Given the description of an element on the screen output the (x, y) to click on. 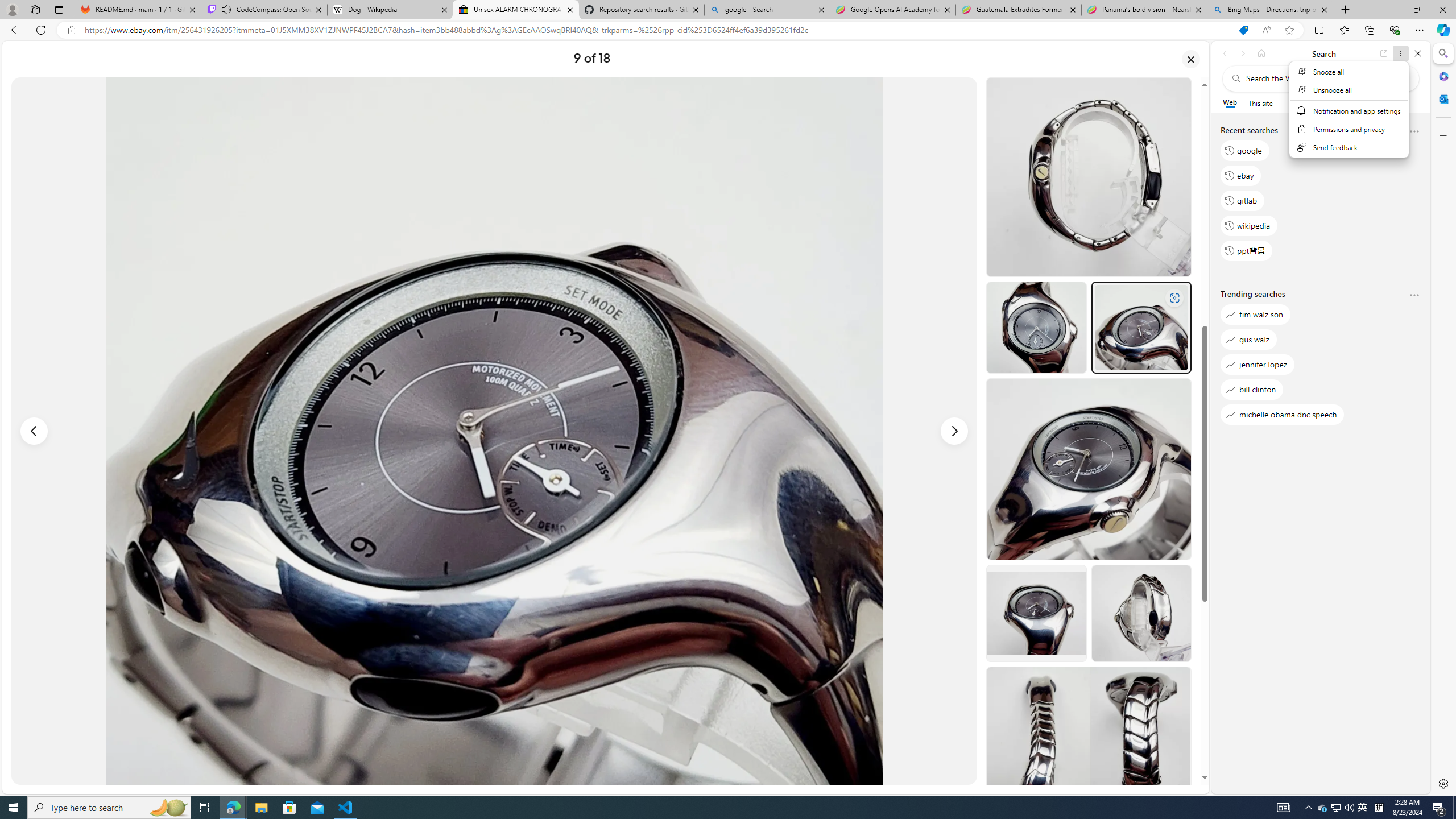
Google Opens AI Academy for Startups - Nearshore Americas (892, 9)
Close image gallery dialog (1190, 58)
This site scope (1259, 102)
Snooze all (1349, 71)
